Given the description of an element on the screen output the (x, y) to click on. 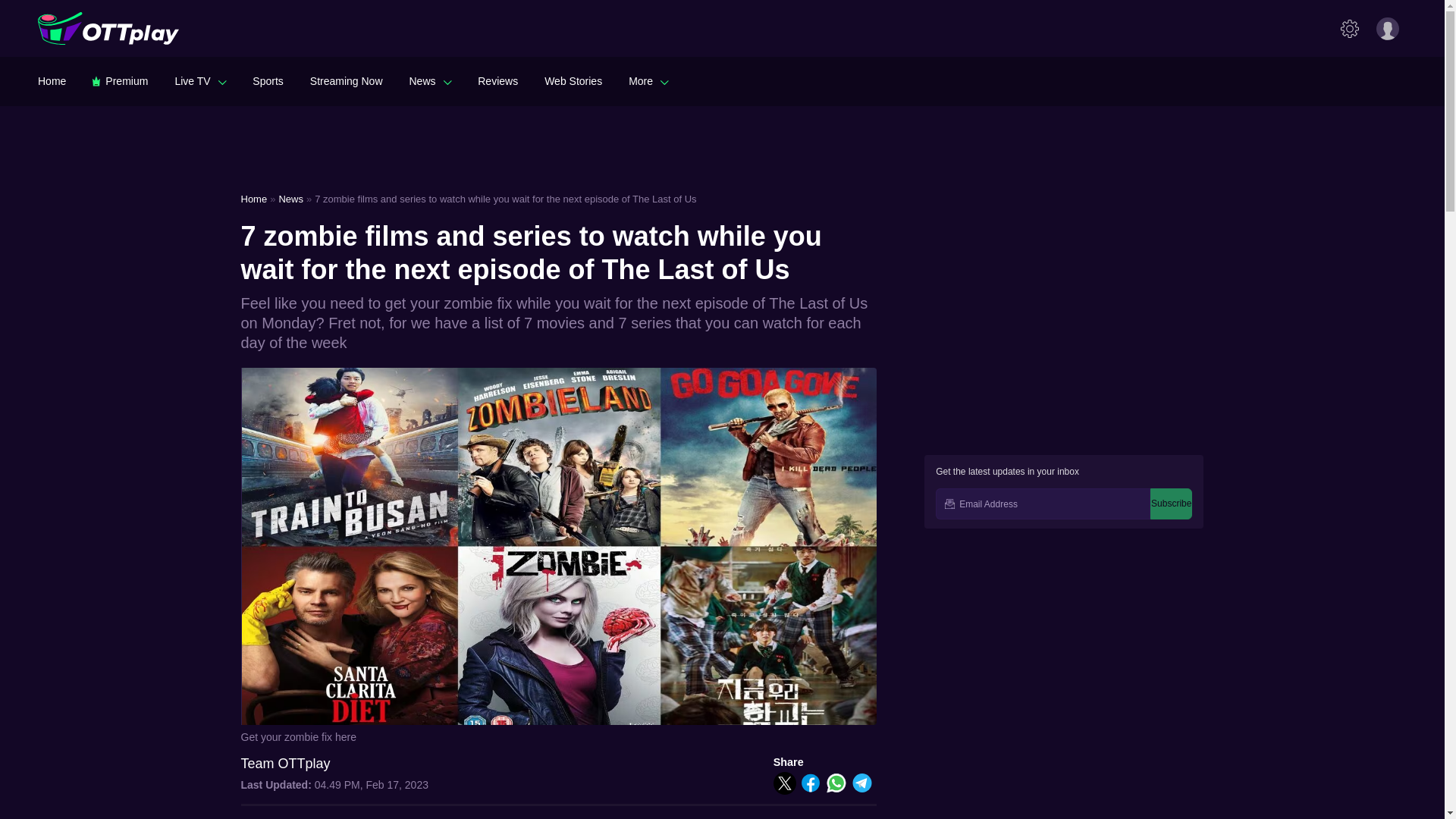
Live TV (199, 80)
Streaming Now (346, 80)
News (430, 80)
Premium (120, 80)
Web Stories (573, 80)
